Given the description of an element on the screen output the (x, y) to click on. 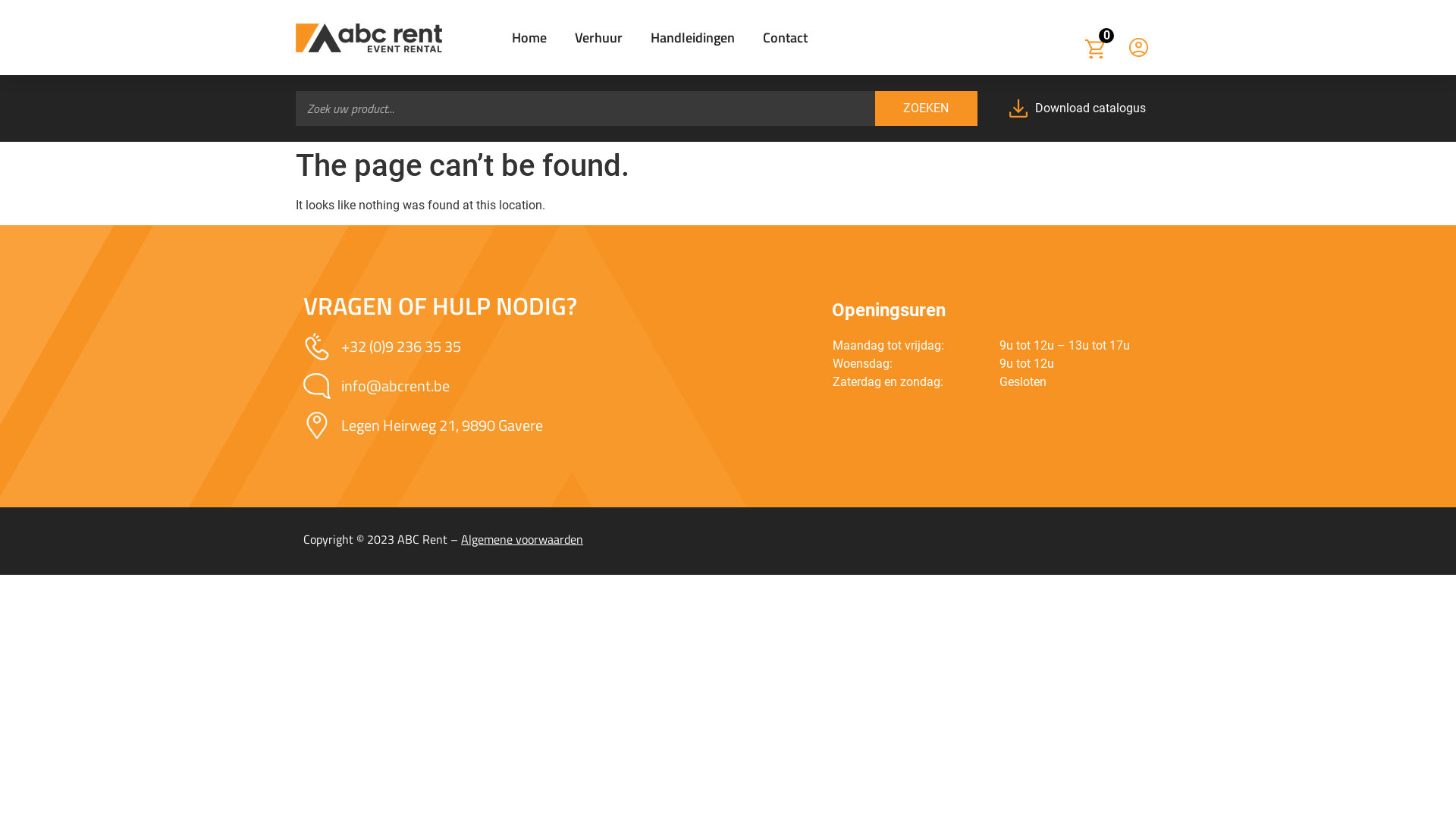
Handleidingen Element type: text (692, 36)
+32 (0)9 236 35 35 Element type: text (559, 346)
Legen Heirweg 21, 9890 Gavere Element type: text (559, 425)
Contact Element type: text (784, 36)
account-abcrent Element type: hover (1138, 46)
Download catalogus Element type: text (1082, 108)
Verhuur Element type: text (598, 36)
Algemene voorwaarden Element type: text (522, 539)
Home Element type: text (528, 36)
0 Element type: text (1105, 35)
info@abcrent.be Element type: text (559, 385)
